Given the description of an element on the screen output the (x, y) to click on. 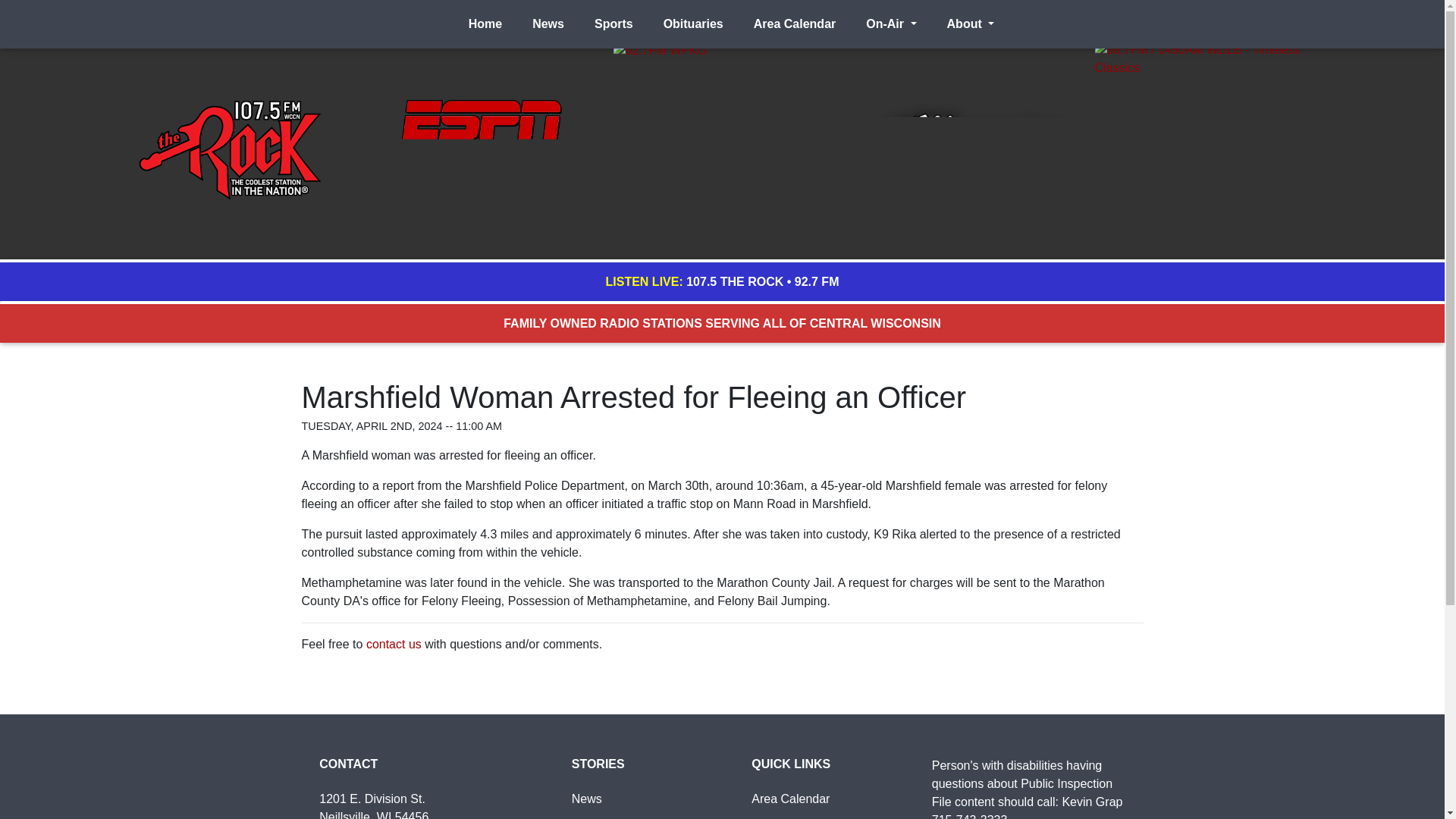
92.7 FM (817, 280)
Obituaries (693, 24)
News (547, 24)
Area Calendar (795, 24)
On-Air (890, 24)
News (587, 798)
107.5 THE ROCK (734, 280)
Area Calendar (790, 798)
Home (485, 24)
Sports (613, 24)
